Given the description of an element on the screen output the (x, y) to click on. 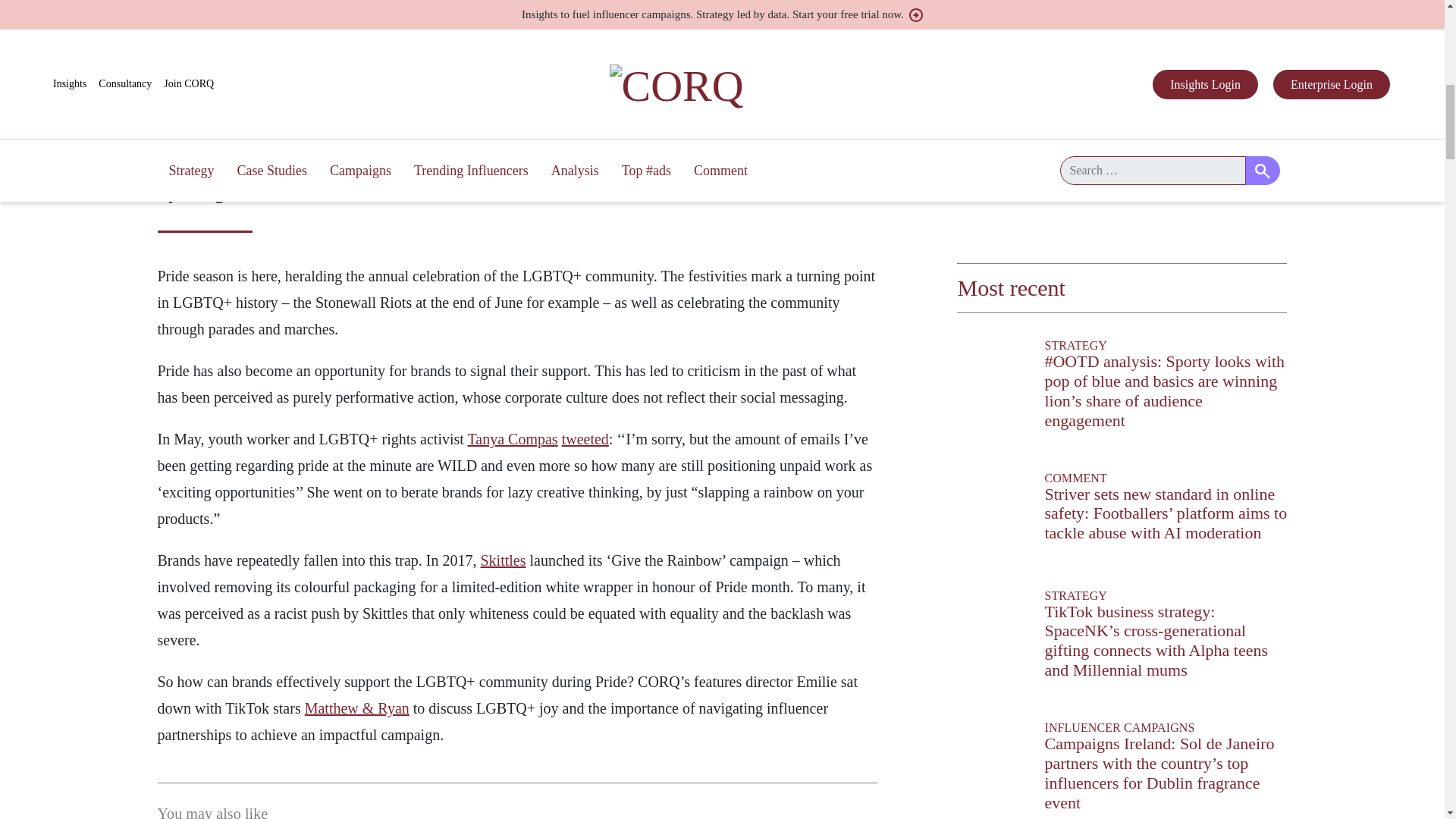
ANALYSIS (439, 170)
Linkedin (184, 11)
tweeted (585, 438)
Tanya Compas (512, 438)
Skittles (502, 560)
Twitter (160, 11)
